Given the description of an element on the screen output the (x, y) to click on. 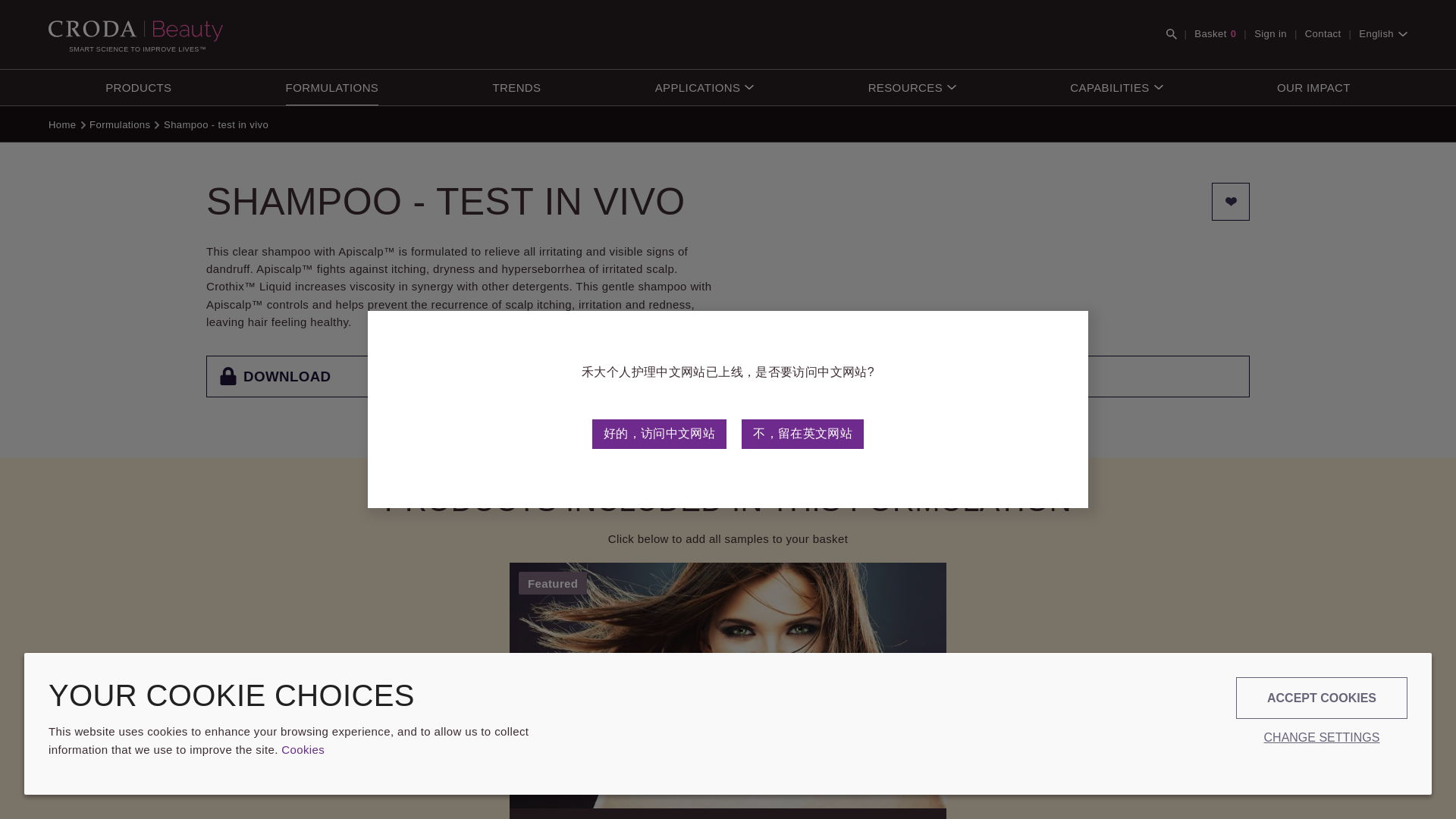
TRENDS (517, 87)
Contact (1322, 34)
FORMULATIONS (1214, 34)
English (331, 87)
Live Chat Button (1382, 34)
PRODUCTS (1425, 655)
APPLICATIONS (137, 87)
SKIP TO CONTENT (704, 87)
